Given the description of an element on the screen output the (x, y) to click on. 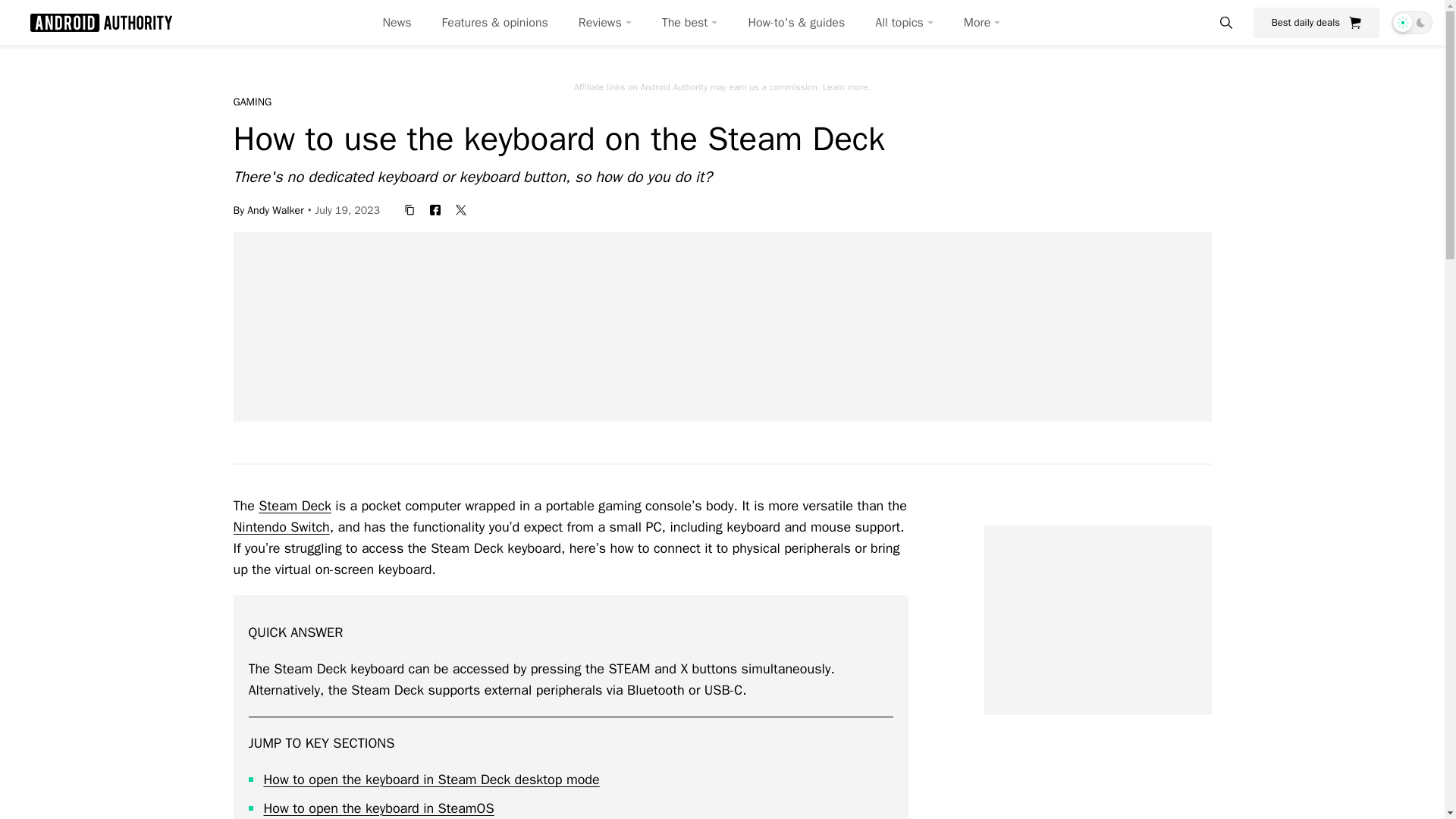
Best daily deals (1315, 22)
Andy Walker (274, 209)
Steam Deck (295, 505)
Reviews (604, 22)
Nintendo Switch (281, 526)
GAMING (252, 101)
twitter (461, 209)
facebook (435, 209)
How to open the keyboard in SteamOS (379, 808)
The best (689, 22)
How to open the keyboard in Steam Deck desktop mode (431, 779)
All topics (904, 22)
Learn more. (846, 86)
